Given the description of an element on the screen output the (x, y) to click on. 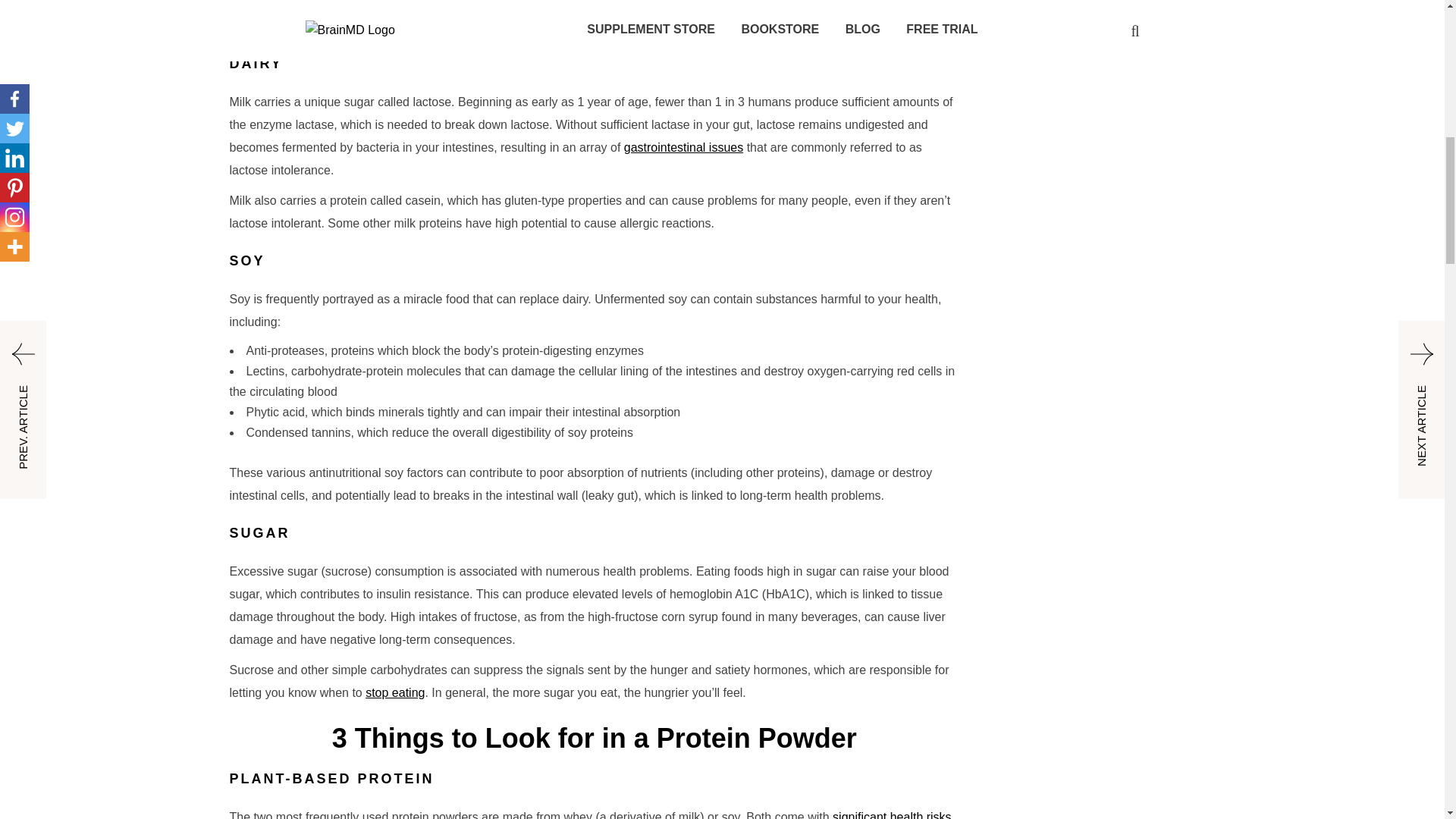
stop eating (395, 692)
gastrointestinal issues (683, 146)
significant health risks (892, 814)
